Given the description of an element on the screen output the (x, y) to click on. 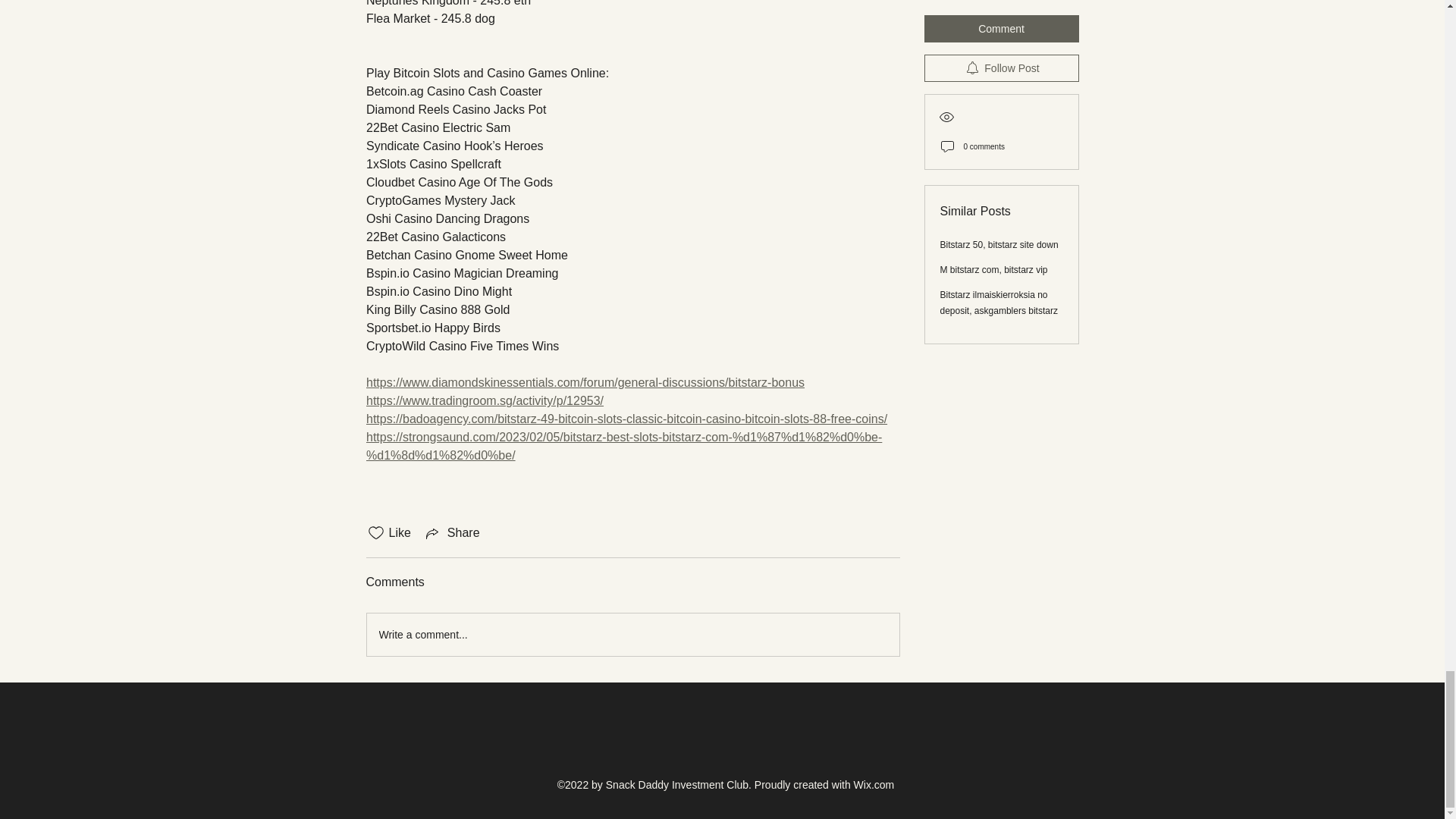
Share (451, 533)
Write a comment... (632, 634)
